Given the description of an element on the screen output the (x, y) to click on. 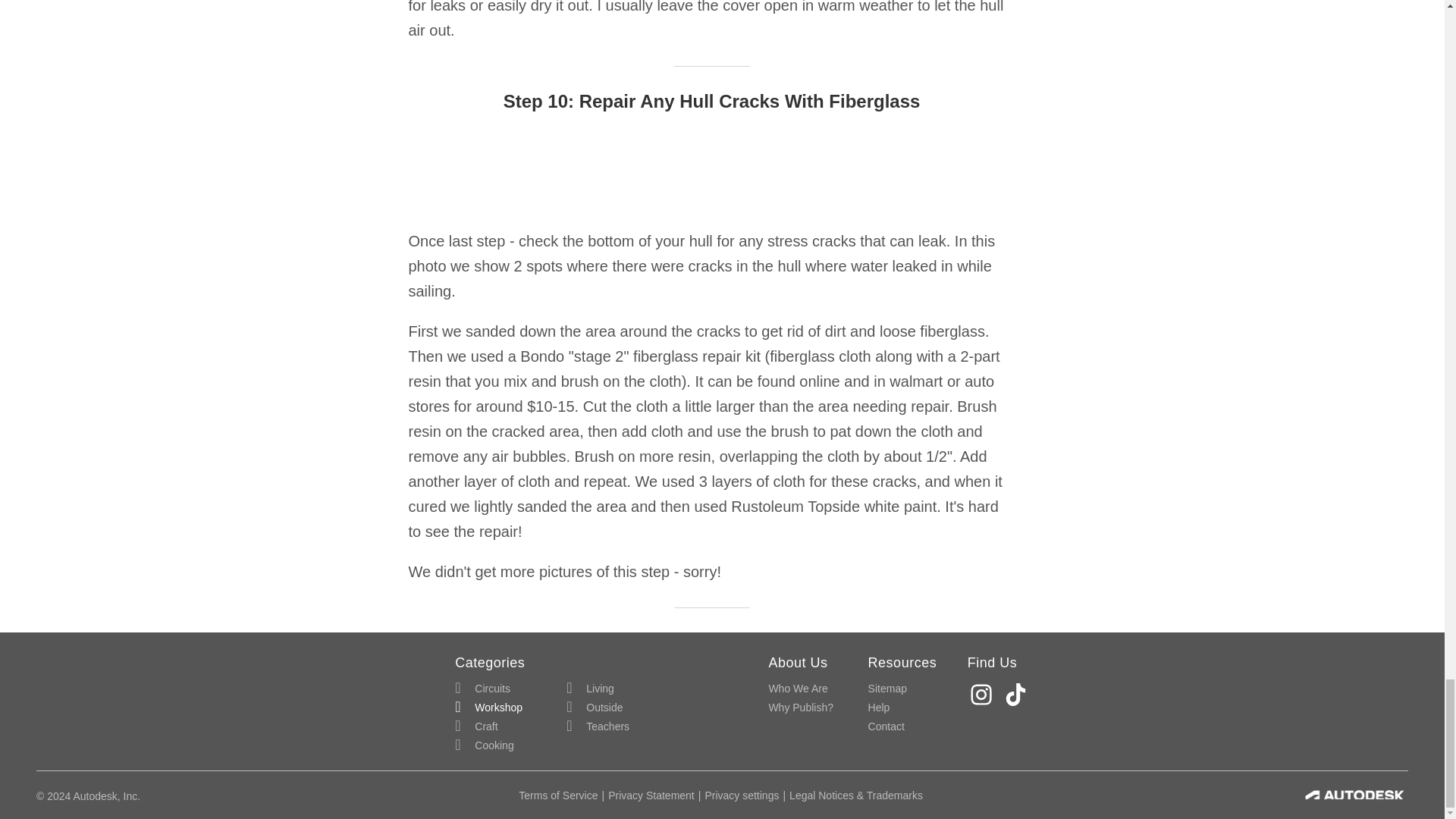
Workshop (488, 707)
TikTok (1018, 694)
Circuits (482, 688)
Outside (594, 707)
Cooking (483, 745)
Craft (475, 726)
Privacy Statement (651, 795)
Contact (885, 726)
Privacy settings (741, 795)
Who We Are (797, 688)
